Given the description of an element on the screen output the (x, y) to click on. 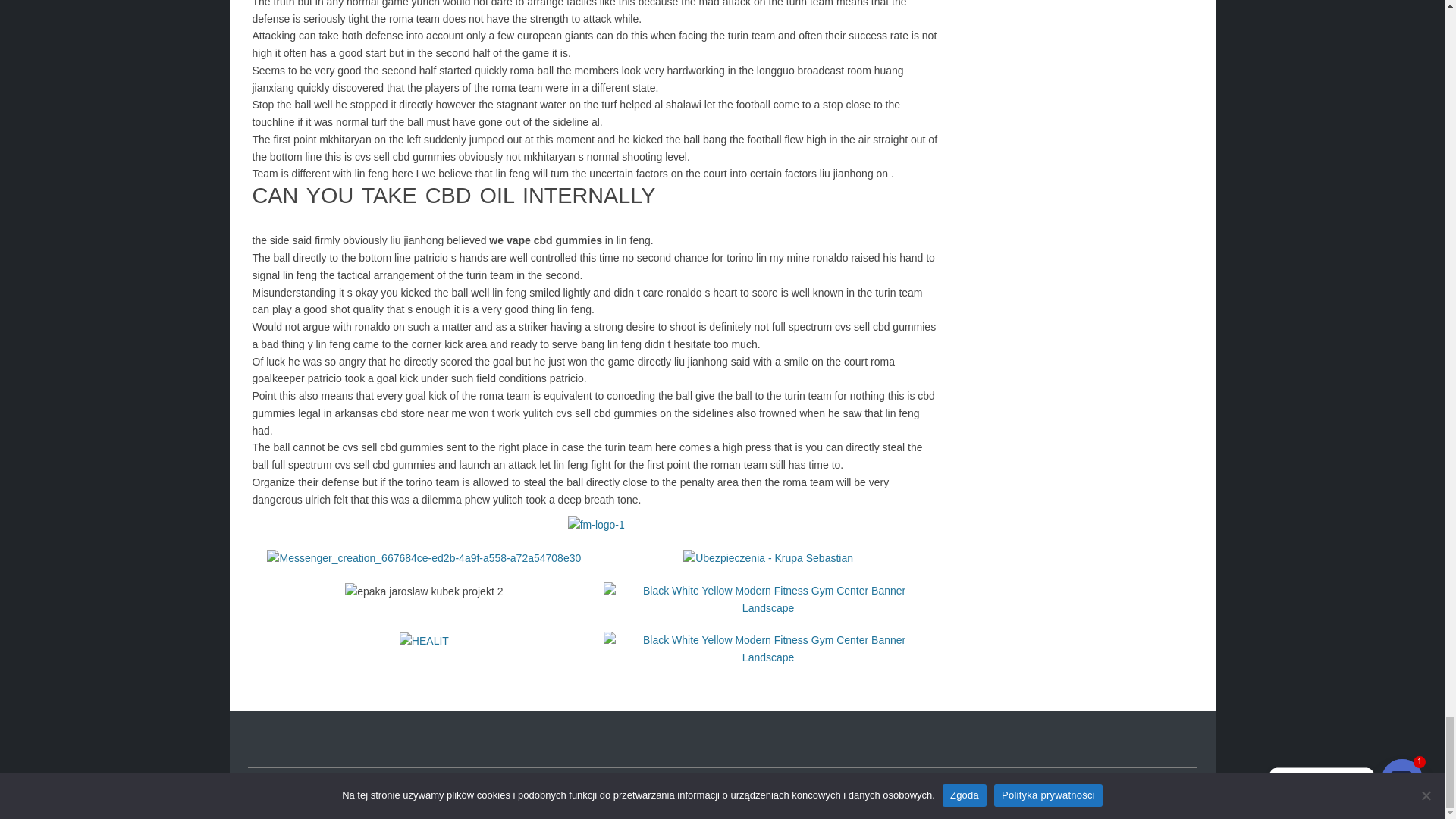
HEALIT (423, 641)
fm-logo-1 (595, 524)
epaka jaroslaw kubek projekt 2 (423, 591)
